Given the description of an element on the screen output the (x, y) to click on. 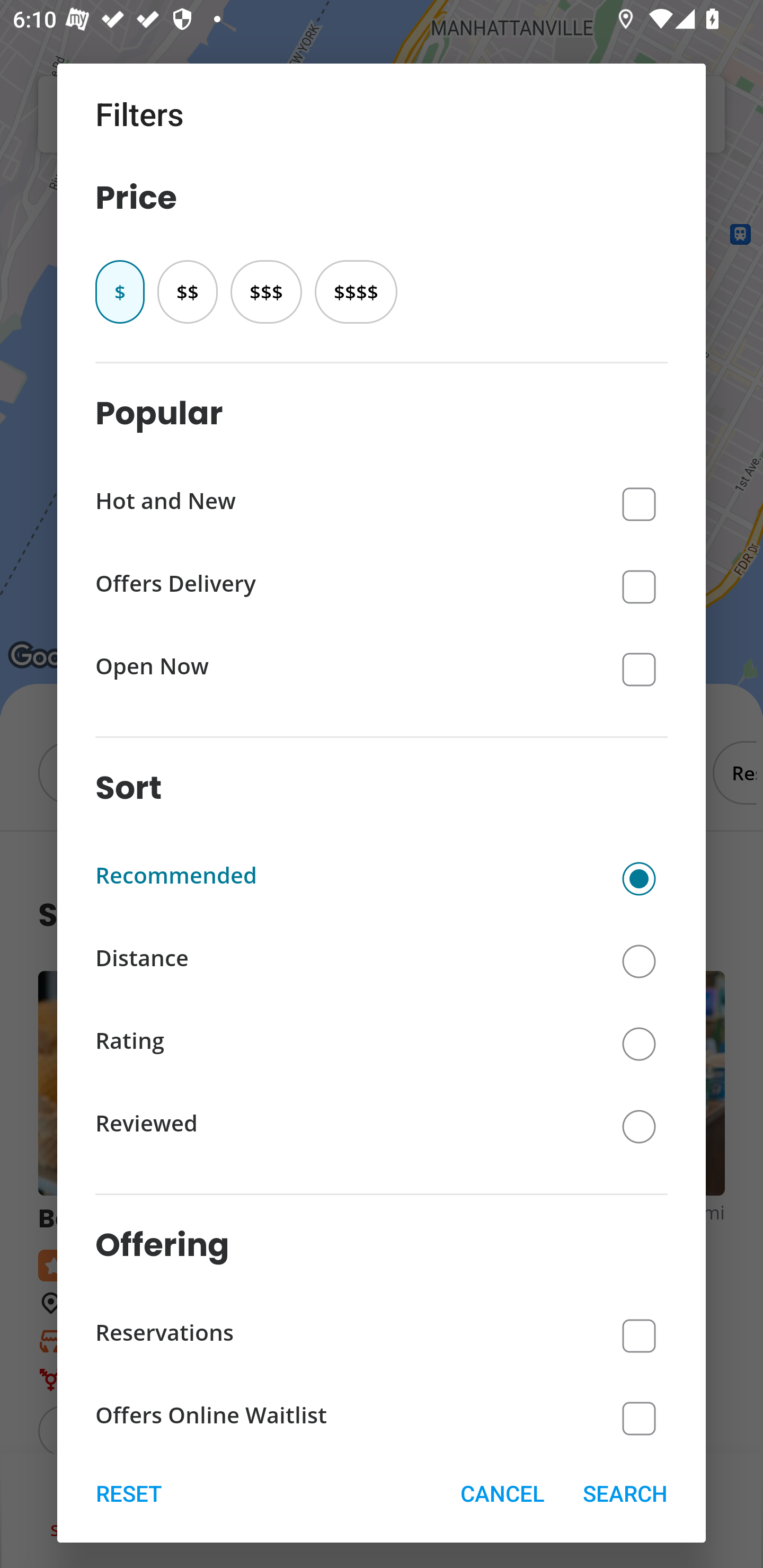
SEARCH (624, 1493)
